Given the description of an element on the screen output the (x, y) to click on. 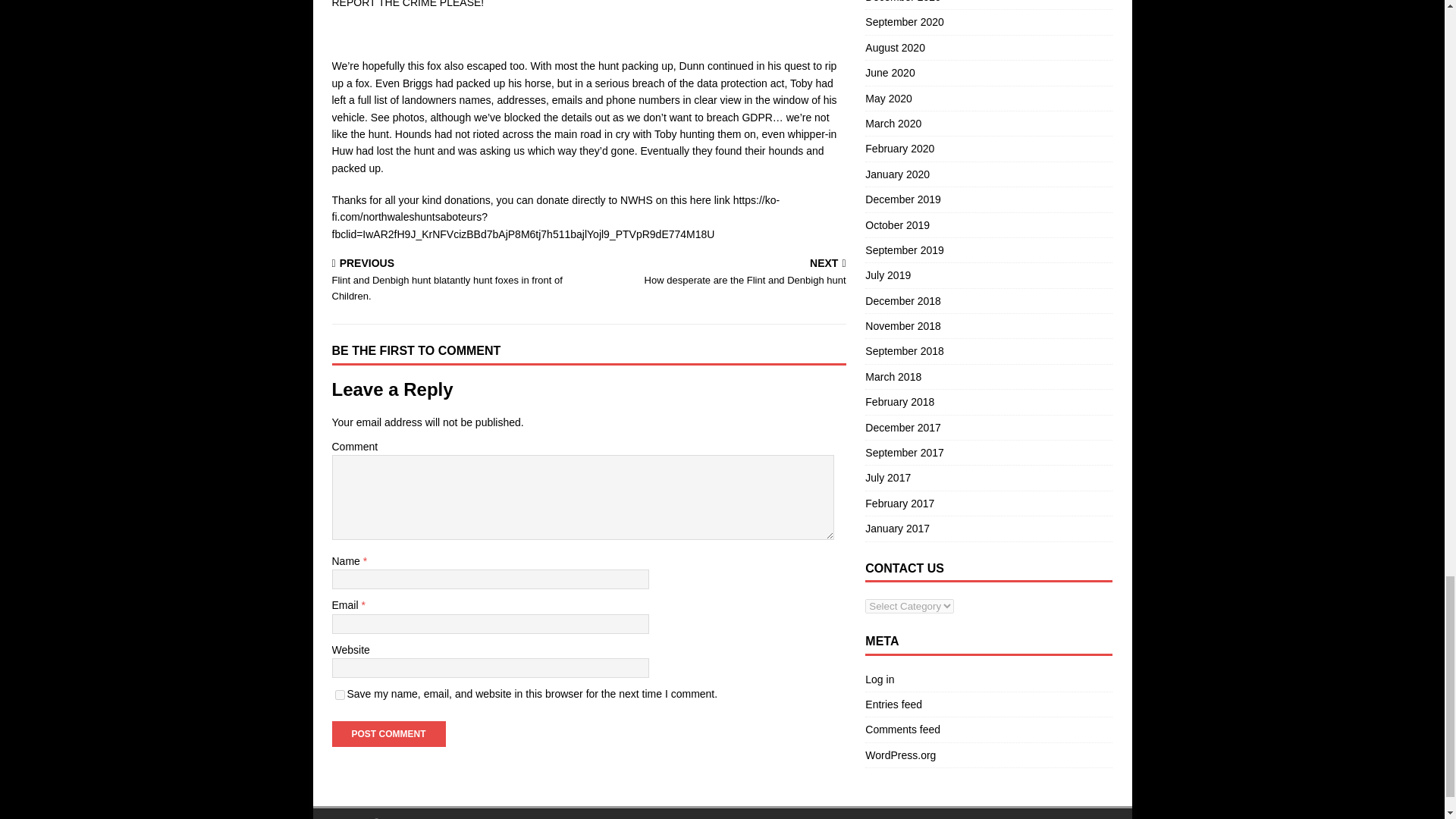
yes (339, 695)
Post Comment (388, 733)
Post Comment (720, 273)
